Given the description of an element on the screen output the (x, y) to click on. 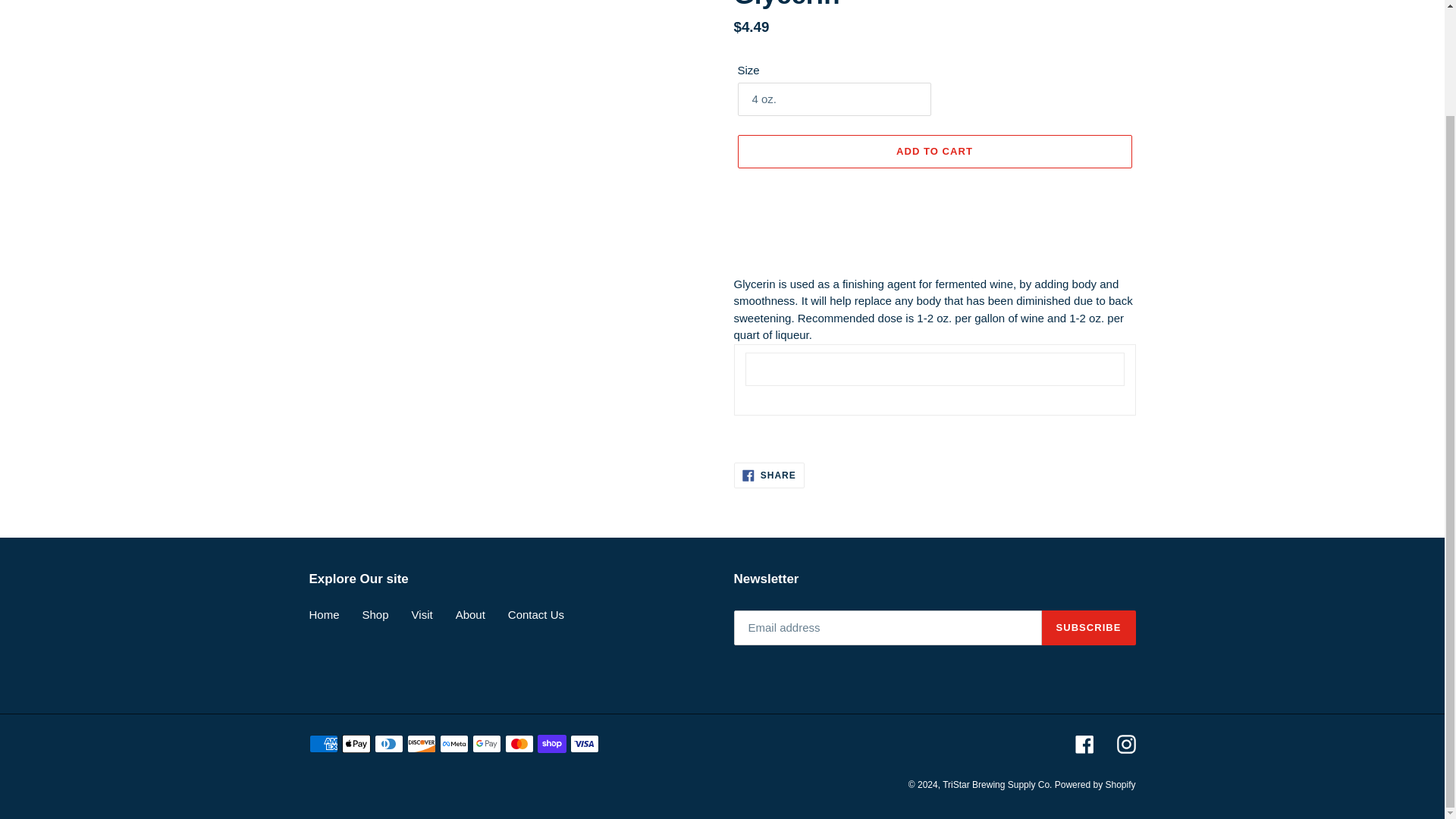
SUBSCRIBE (1088, 627)
Home (323, 614)
TriStar Brewing Supply Co. (998, 784)
Visit (422, 614)
Contact Us (536, 614)
Facebook (769, 475)
About (1084, 743)
